Given the description of an element on the screen output the (x, y) to click on. 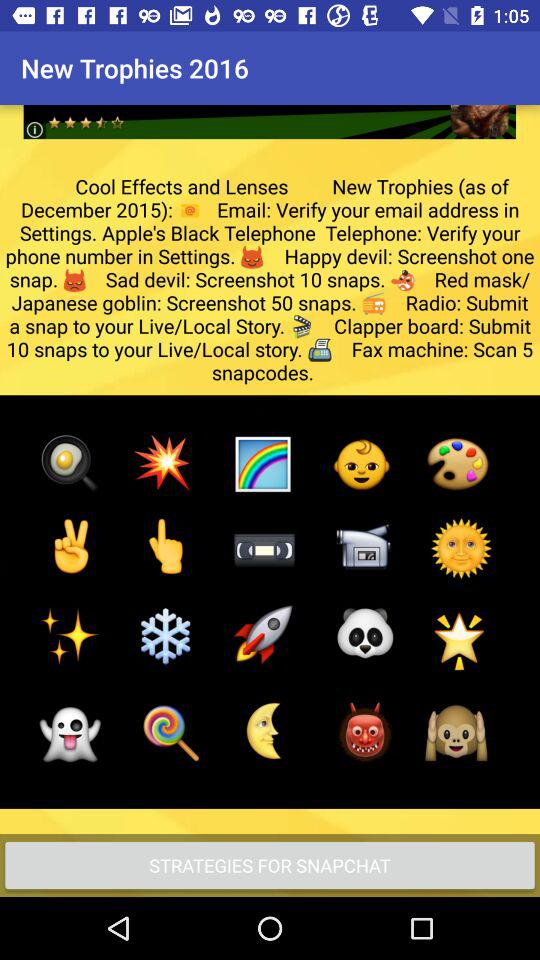
flip to the strategies for snapchat item (270, 864)
